Given the description of an element on the screen output the (x, y) to click on. 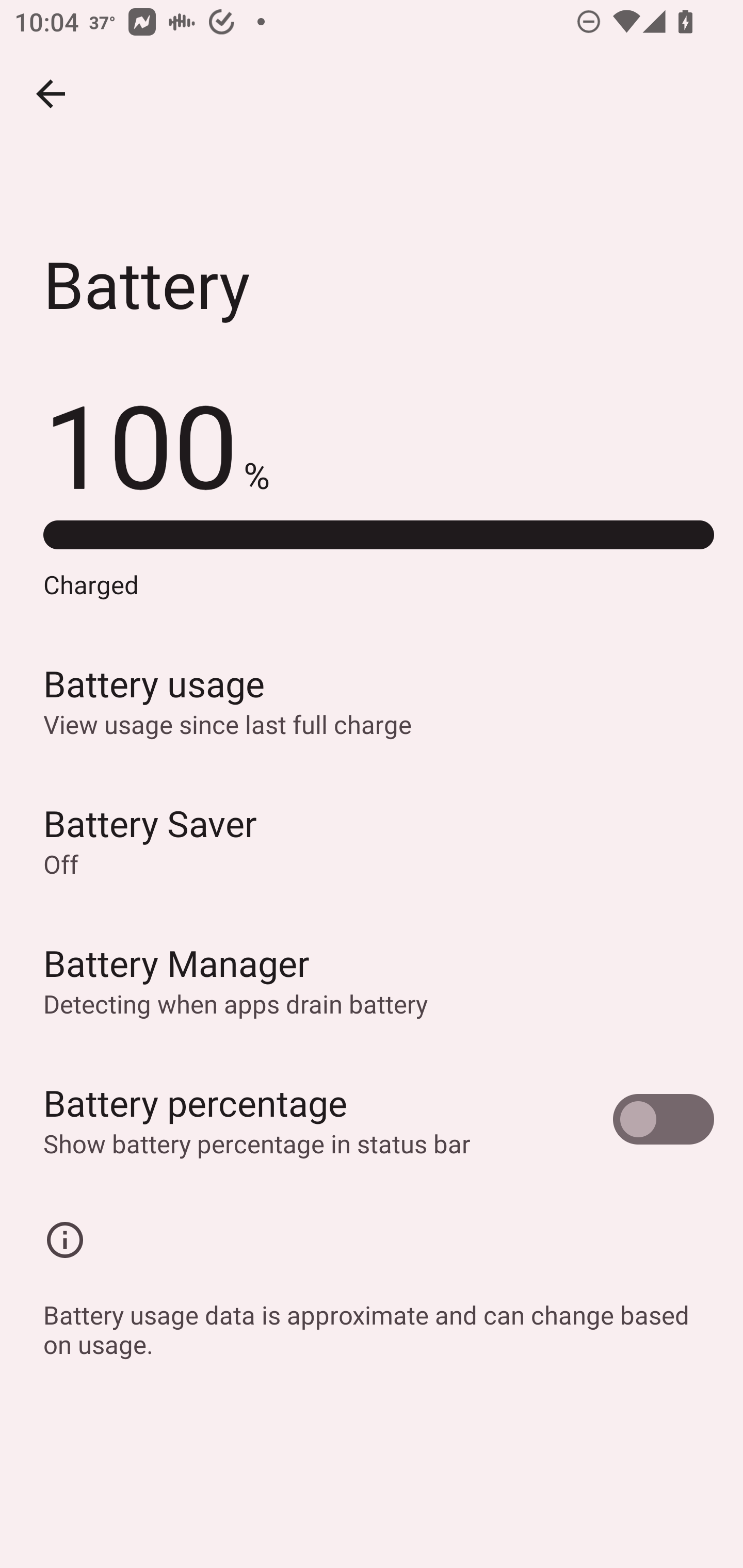
Navigate up (50, 93)
Battery usage View usage since last full charge (371, 699)
Battery Saver Off (371, 839)
Battery Manager Detecting when apps drain battery (371, 978)
